Given the description of an element on the screen output the (x, y) to click on. 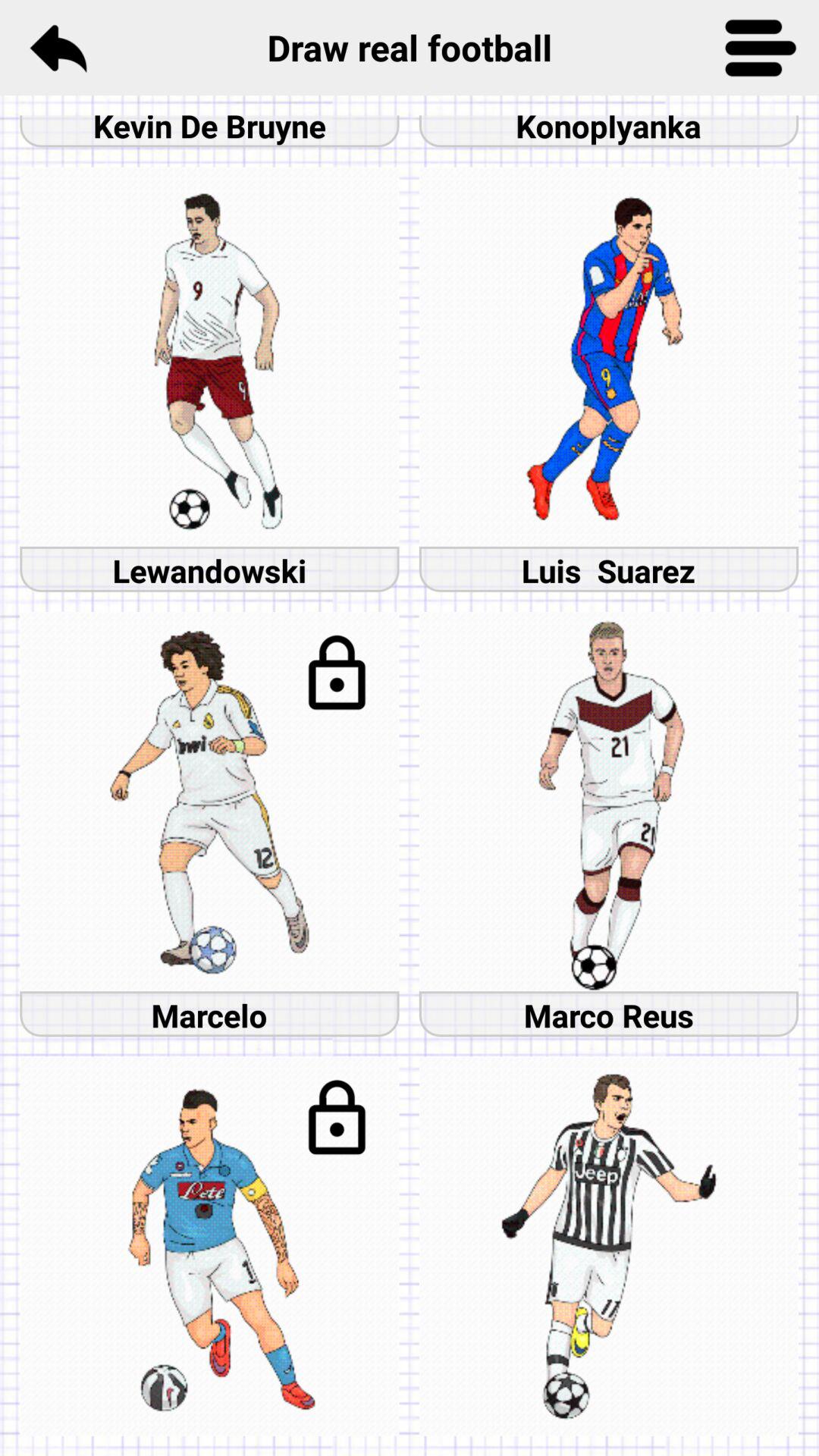
go back (58, 47)
